Given the description of an element on the screen output the (x, y) to click on. 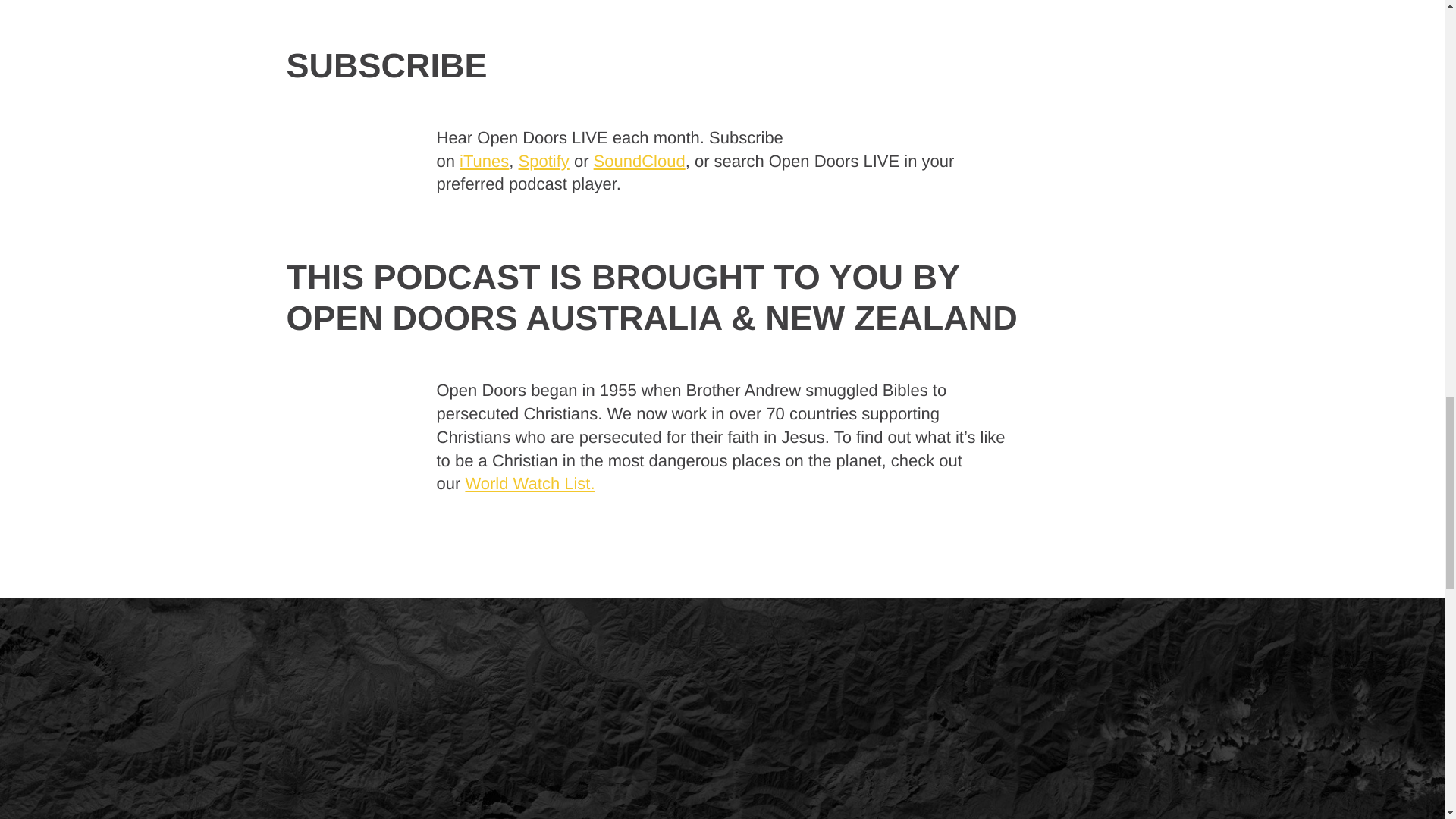
World Watch List. (529, 483)
iTunes (484, 160)
Spotify (543, 160)
SoundCloud (639, 160)
